Given the description of an element on the screen output the (x, y) to click on. 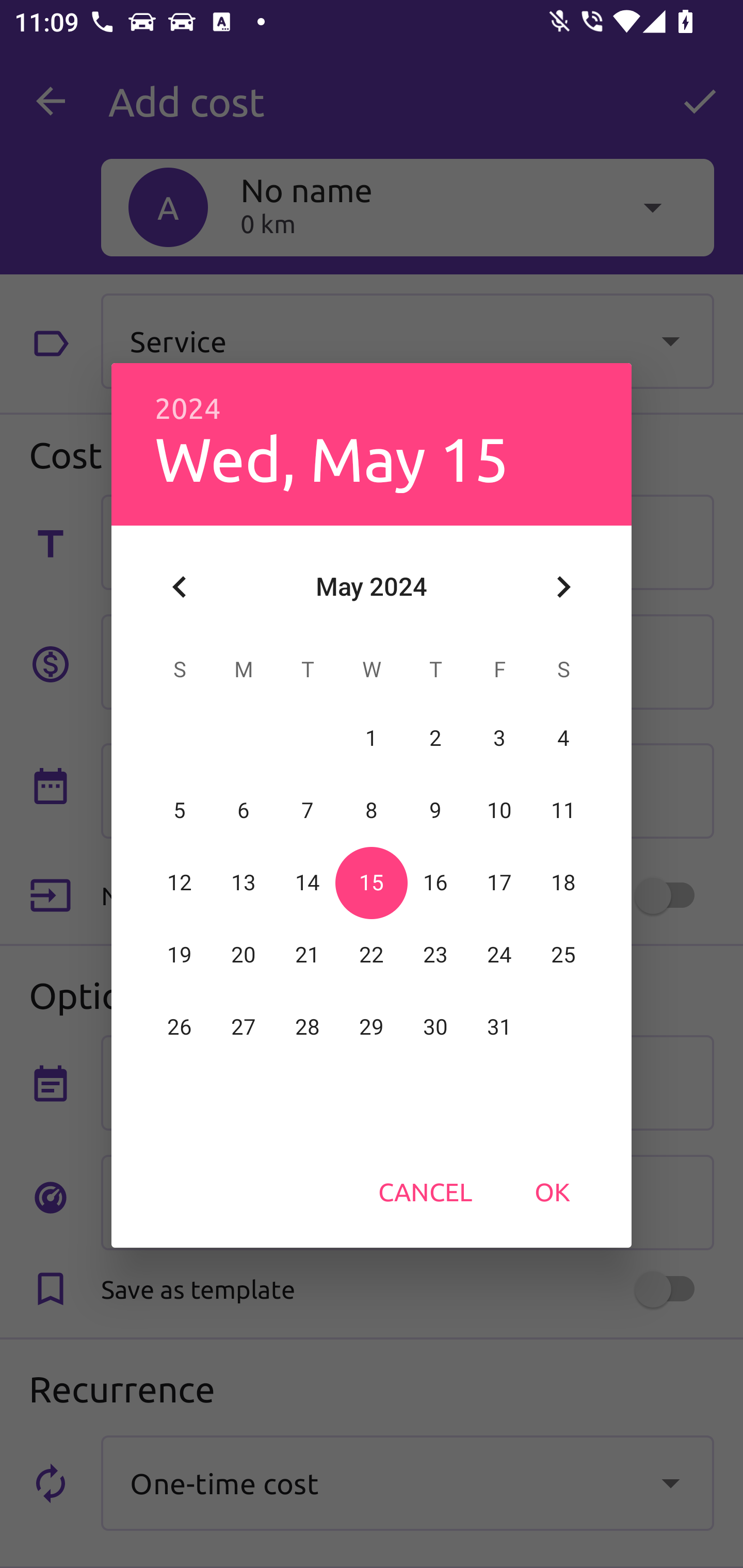
2024 (187, 408)
Wed, May 15 (331, 458)
Previous month (178, 587)
Next month (563, 587)
1 01 May 2024 (371, 738)
2 02 May 2024 (435, 738)
3 03 May 2024 (499, 738)
4 04 May 2024 (563, 738)
5 05 May 2024 (179, 810)
6 06 May 2024 (243, 810)
7 07 May 2024 (307, 810)
8 08 May 2024 (371, 810)
9 09 May 2024 (435, 810)
10 10 May 2024 (499, 810)
11 11 May 2024 (563, 810)
12 12 May 2024 (179, 882)
13 13 May 2024 (243, 882)
14 14 May 2024 (307, 882)
15 15 May 2024 (371, 882)
16 16 May 2024 (435, 882)
17 17 May 2024 (499, 882)
18 18 May 2024 (563, 882)
19 19 May 2024 (179, 954)
20 20 May 2024 (243, 954)
21 21 May 2024 (307, 954)
22 22 May 2024 (371, 954)
23 23 May 2024 (435, 954)
24 24 May 2024 (499, 954)
25 25 May 2024 (563, 954)
26 26 May 2024 (179, 1026)
27 27 May 2024 (243, 1026)
28 28 May 2024 (307, 1026)
29 29 May 2024 (371, 1026)
30 30 May 2024 (435, 1026)
31 31 May 2024 (499, 1026)
CANCEL (425, 1191)
OK (552, 1191)
